Given the description of an element on the screen output the (x, y) to click on. 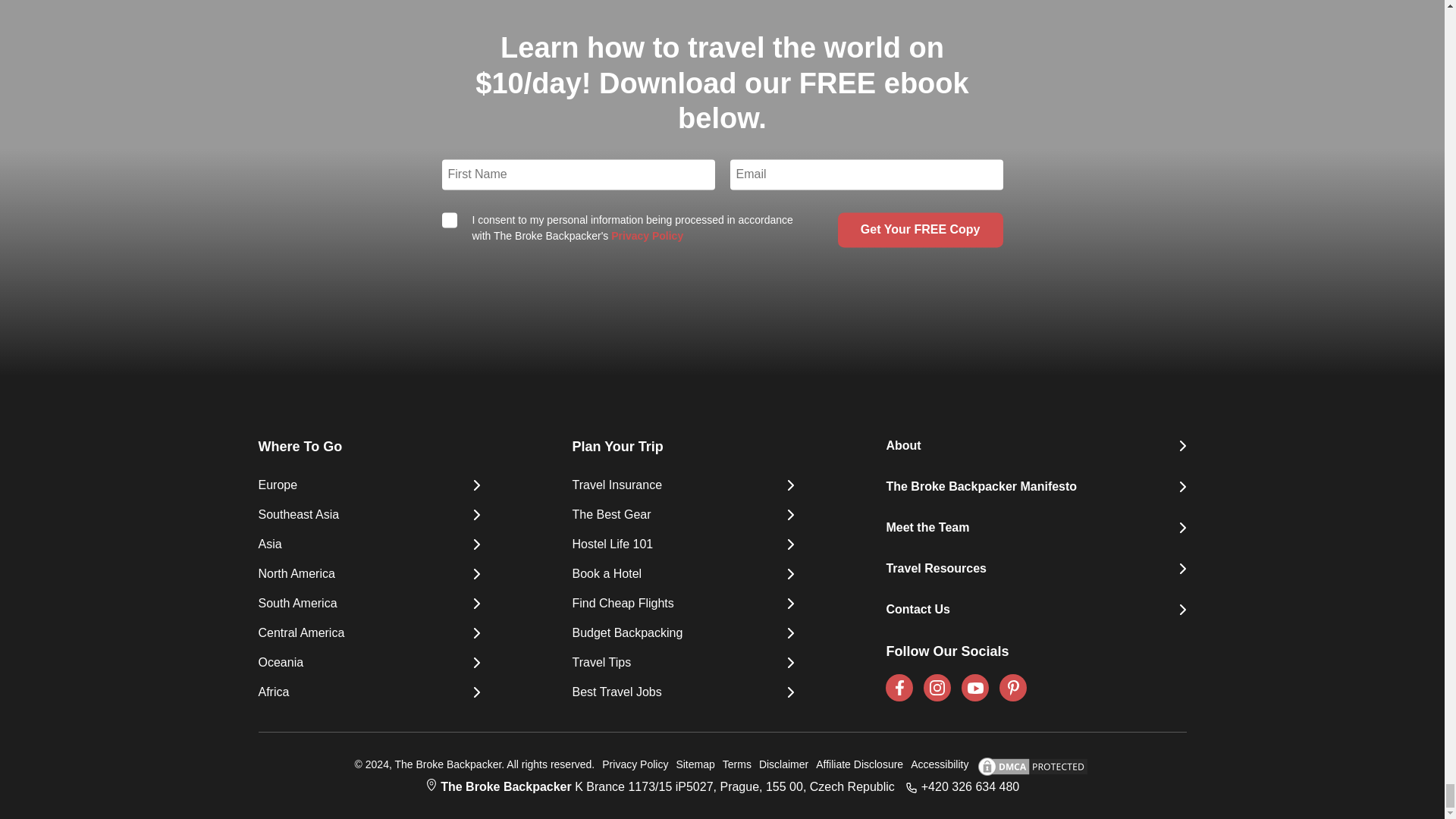
DMCA.com Protection Status (1028, 766)
1 (449, 219)
